Given the description of an element on the screen output the (x, y) to click on. 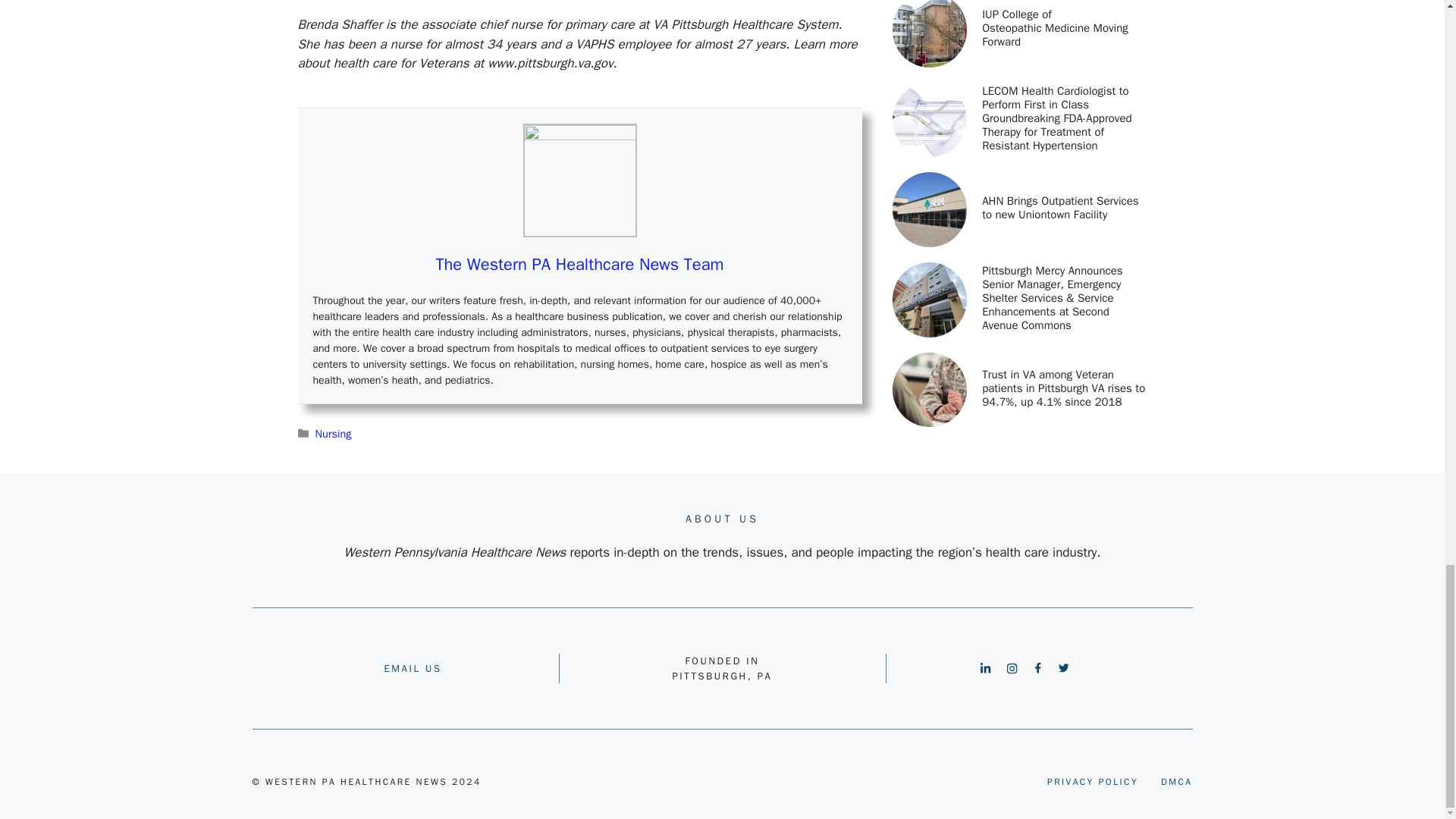
Nursing (333, 433)
The Western PA Healthcare News Team (579, 264)
